Given the description of an element on the screen output the (x, y) to click on. 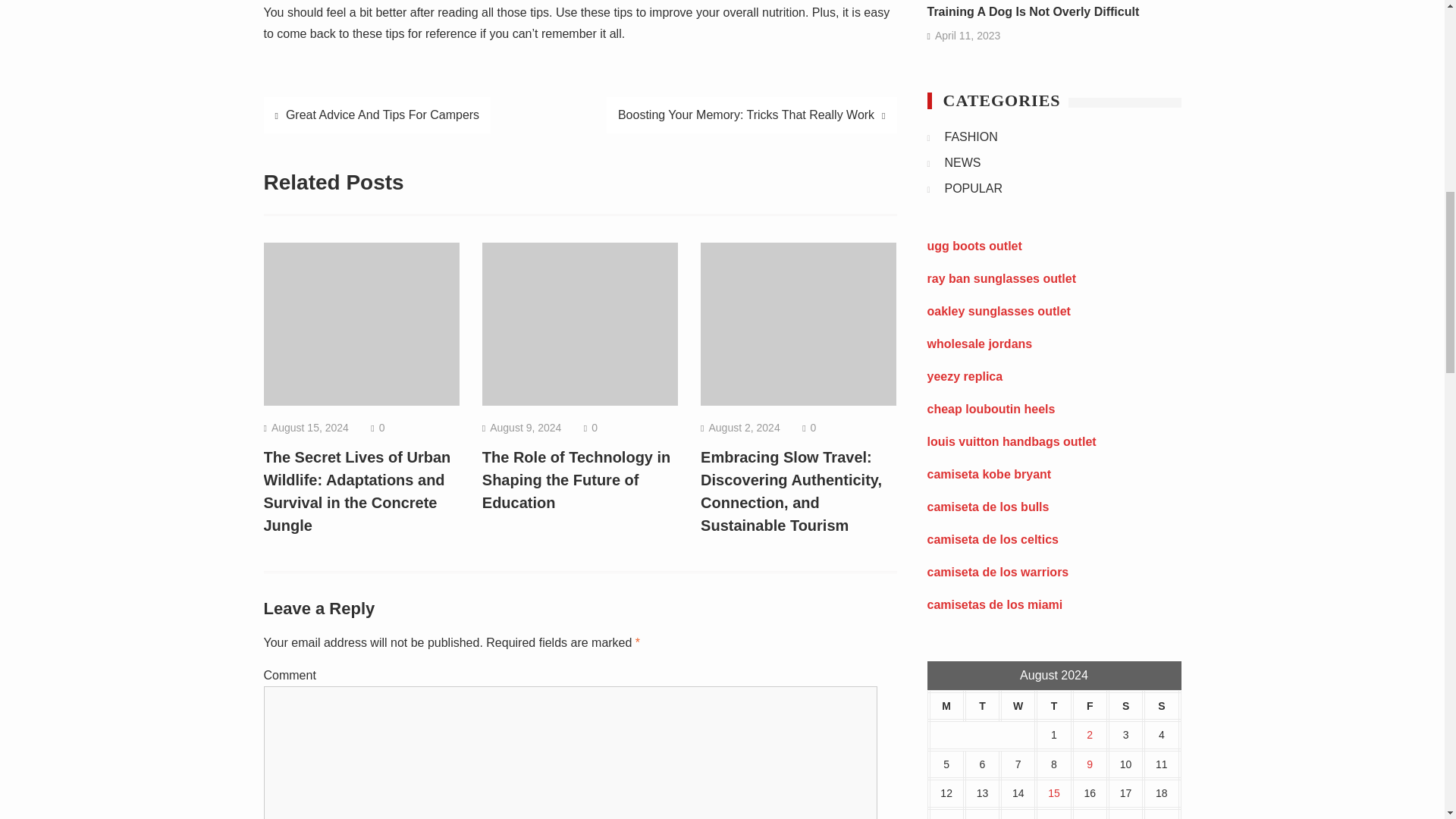
The Role of Technology in Shaping the Future of Education (576, 479)
Thursday (1053, 706)
Friday (1089, 706)
Great Advice And Tips For Campers (377, 115)
Boosting Your Memory: Tricks That Really Work (751, 115)
Saturday (1125, 706)
Sunday (1160, 706)
Wednesday (1017, 706)
Tuesday (981, 706)
